Given the description of an element on the screen output the (x, y) to click on. 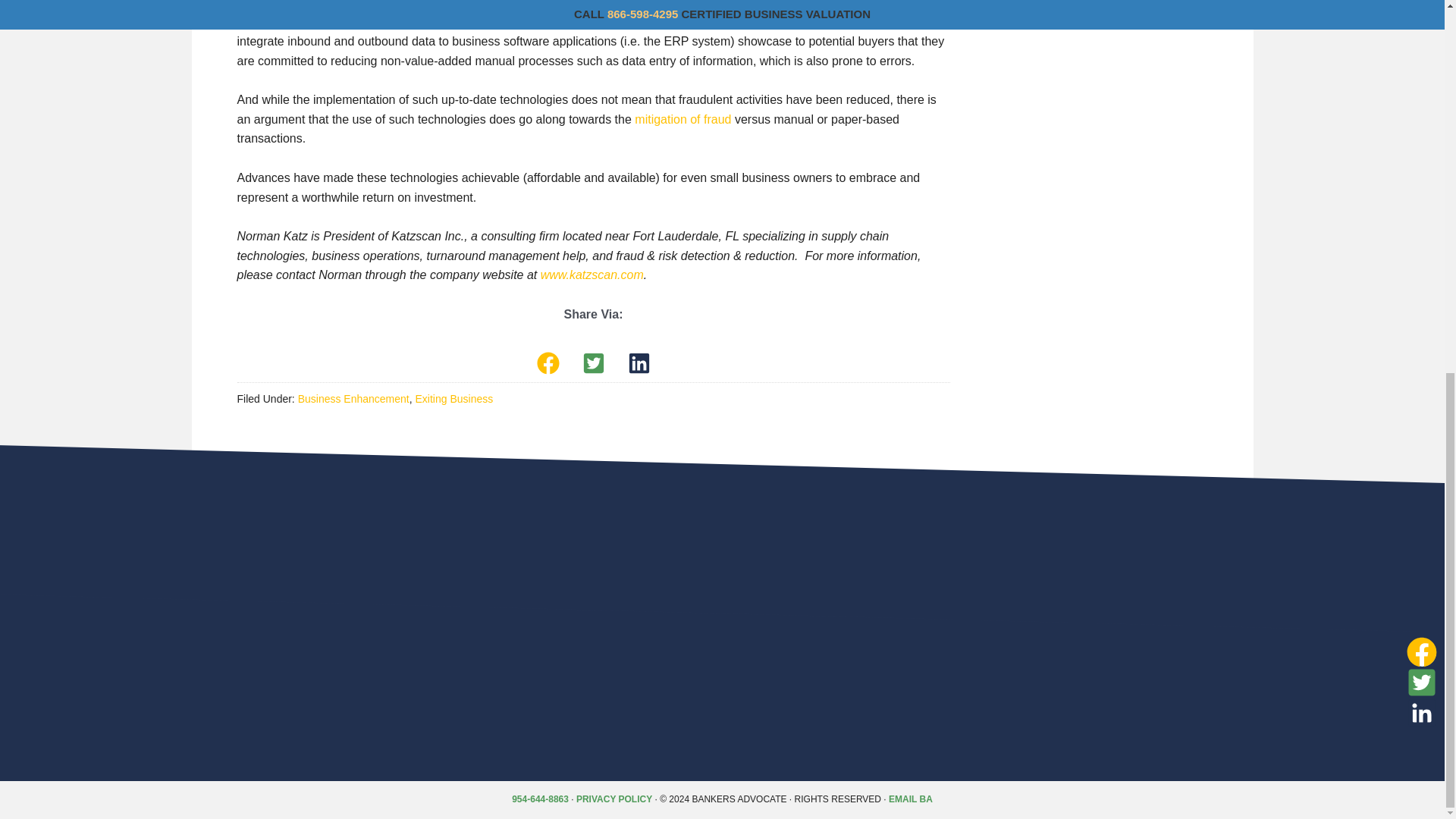
mitigation of fraud (682, 119)
Business Enhancement (353, 398)
CONTACT ME (1124, 58)
Exiting Business (453, 398)
www.katzscan.com (591, 274)
